Given the description of an element on the screen output the (x, y) to click on. 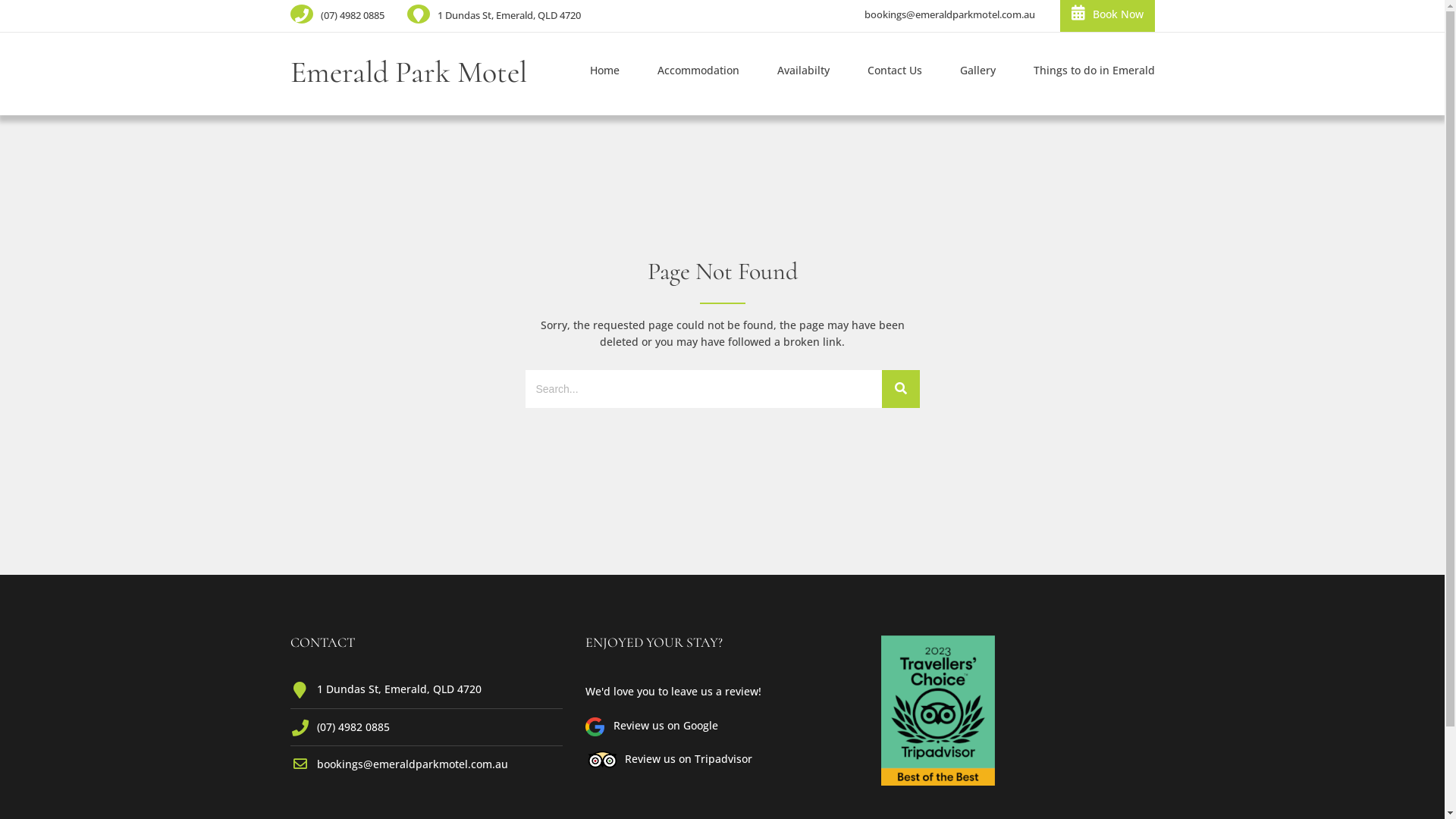
Emerald Park Motel Element type: text (407, 71)
Things to do in Emerald Element type: text (1084, 73)
Gallery Element type: text (976, 73)
Contact Us Element type: text (893, 73)
Home Element type: text (603, 73)
  Review us on Tripadvisor Element type: text (685, 758)
Accommodation Element type: text (698, 73)
   Review us on Google Element type: text (661, 725)
Book Now Element type: text (1107, 15)
Availabilty Element type: text (803, 73)
